Given the description of an element on the screen output the (x, y) to click on. 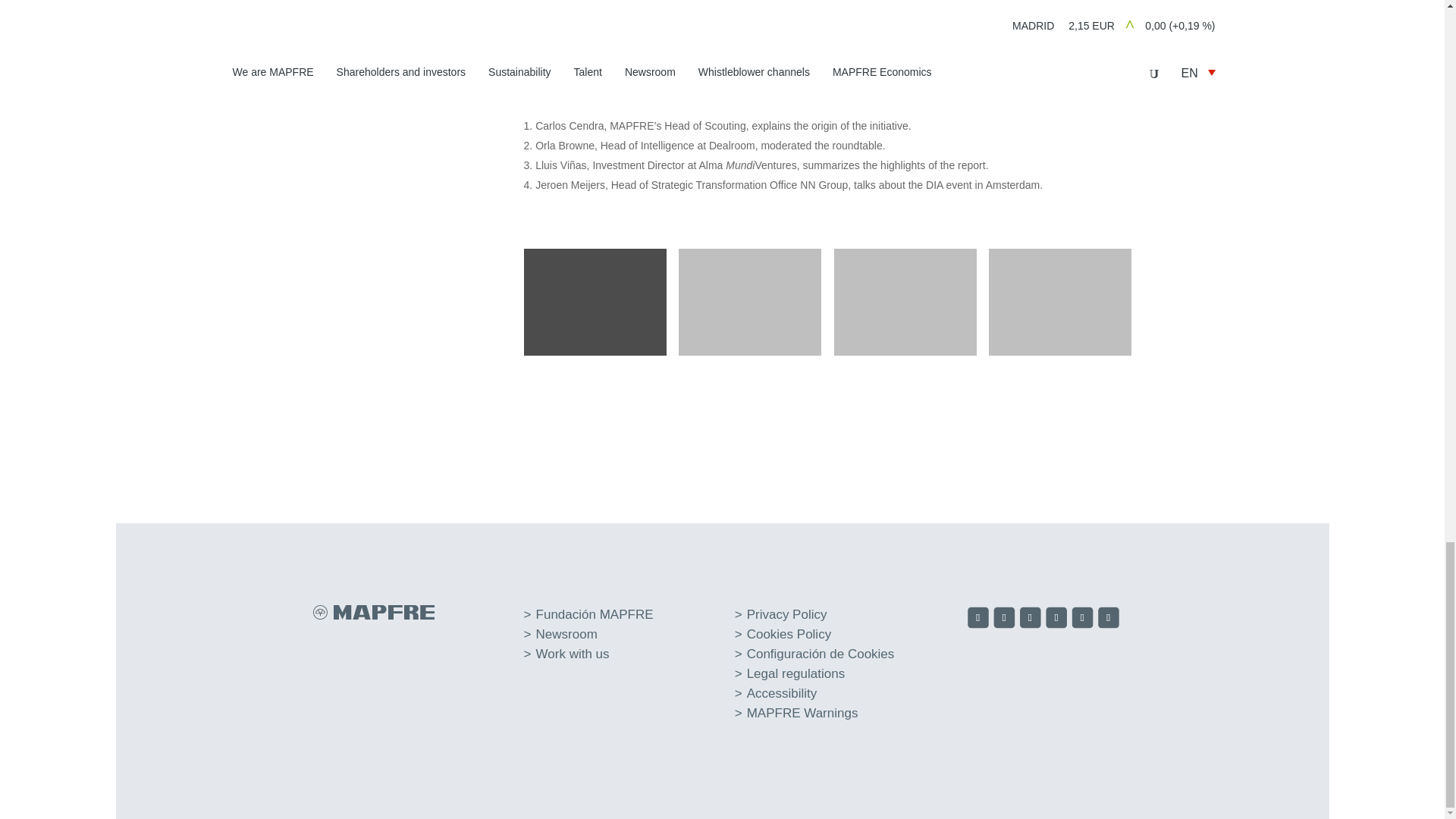
Work with us (572, 653)
Follow on Facebook (979, 619)
Follow on Instagram (1031, 619)
Follow on Youtube (1083, 619)
Follow on LinkedIn (1057, 619)
Follow on Spotify (1109, 619)
